Given the description of an element on the screen output the (x, y) to click on. 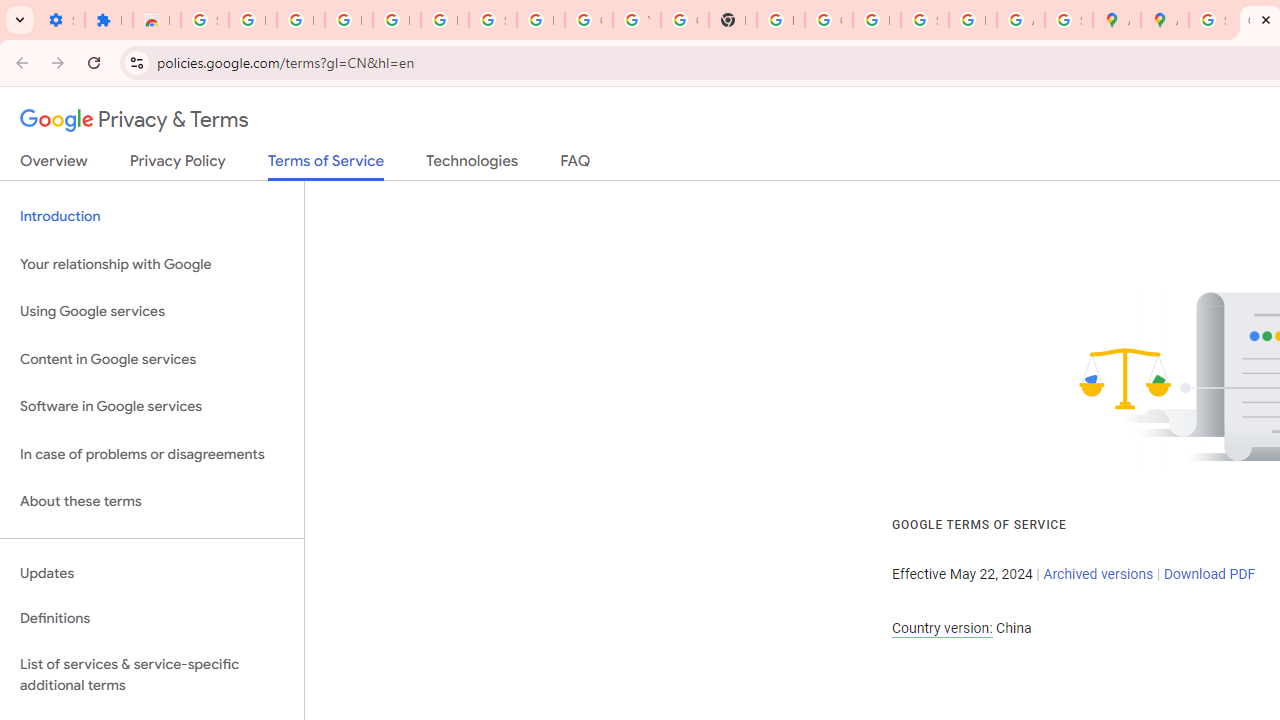
List of services & service-specific additional terms (152, 674)
Learn how to find your photos - Google Photos Help (396, 20)
Download PDF (1209, 574)
Your relationship with Google (152, 263)
Settings - On startup (60, 20)
